Given the description of an element on the screen output the (x, y) to click on. 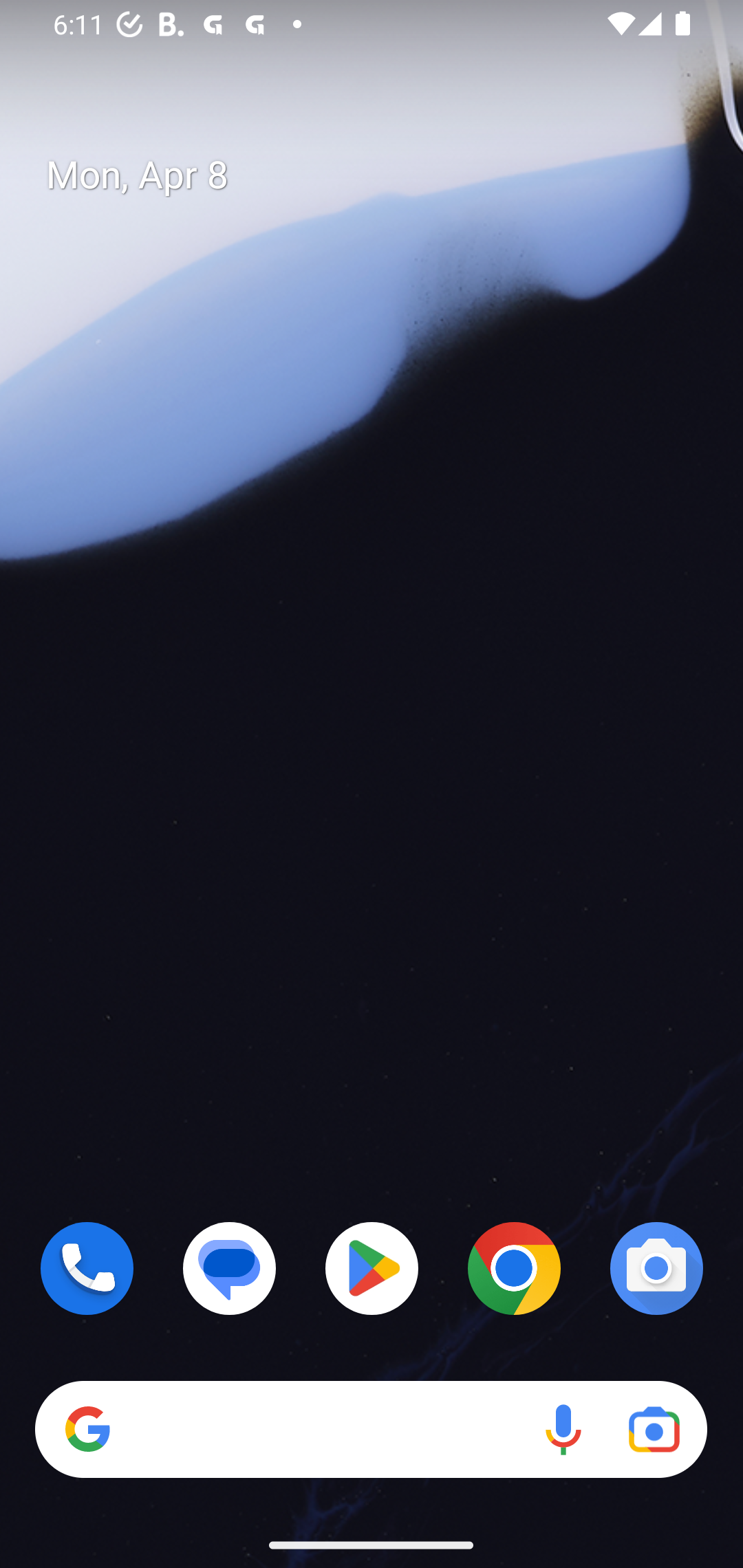
Mon, Apr 8 (386, 175)
Phone (86, 1268)
Messages (229, 1268)
Play Store (371, 1268)
Chrome (513, 1268)
Camera (656, 1268)
Search Voice search Google Lens (370, 1429)
Voice search (562, 1429)
Google Lens (653, 1429)
